Given the description of an element on the screen output the (x, y) to click on. 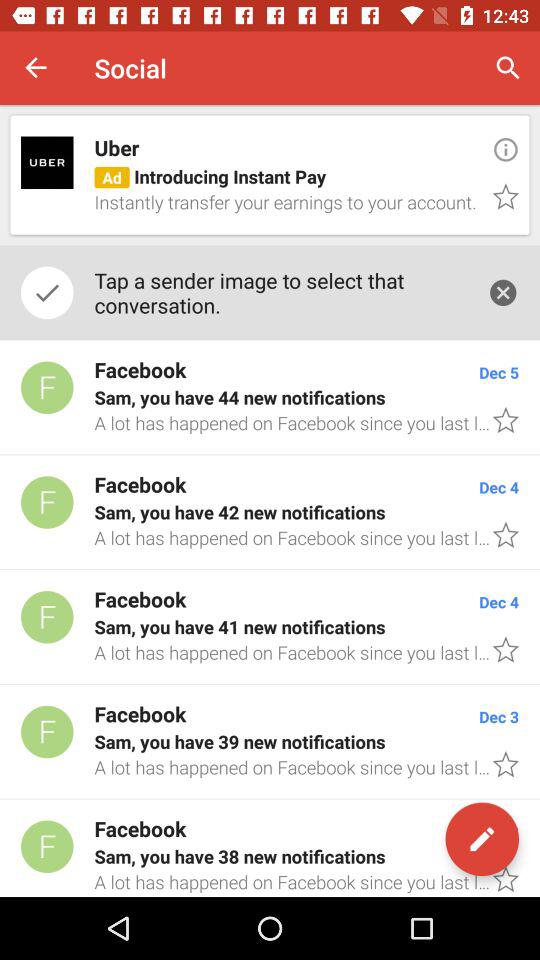
click icon at the bottom right corner (482, 839)
